Given the description of an element on the screen output the (x, y) to click on. 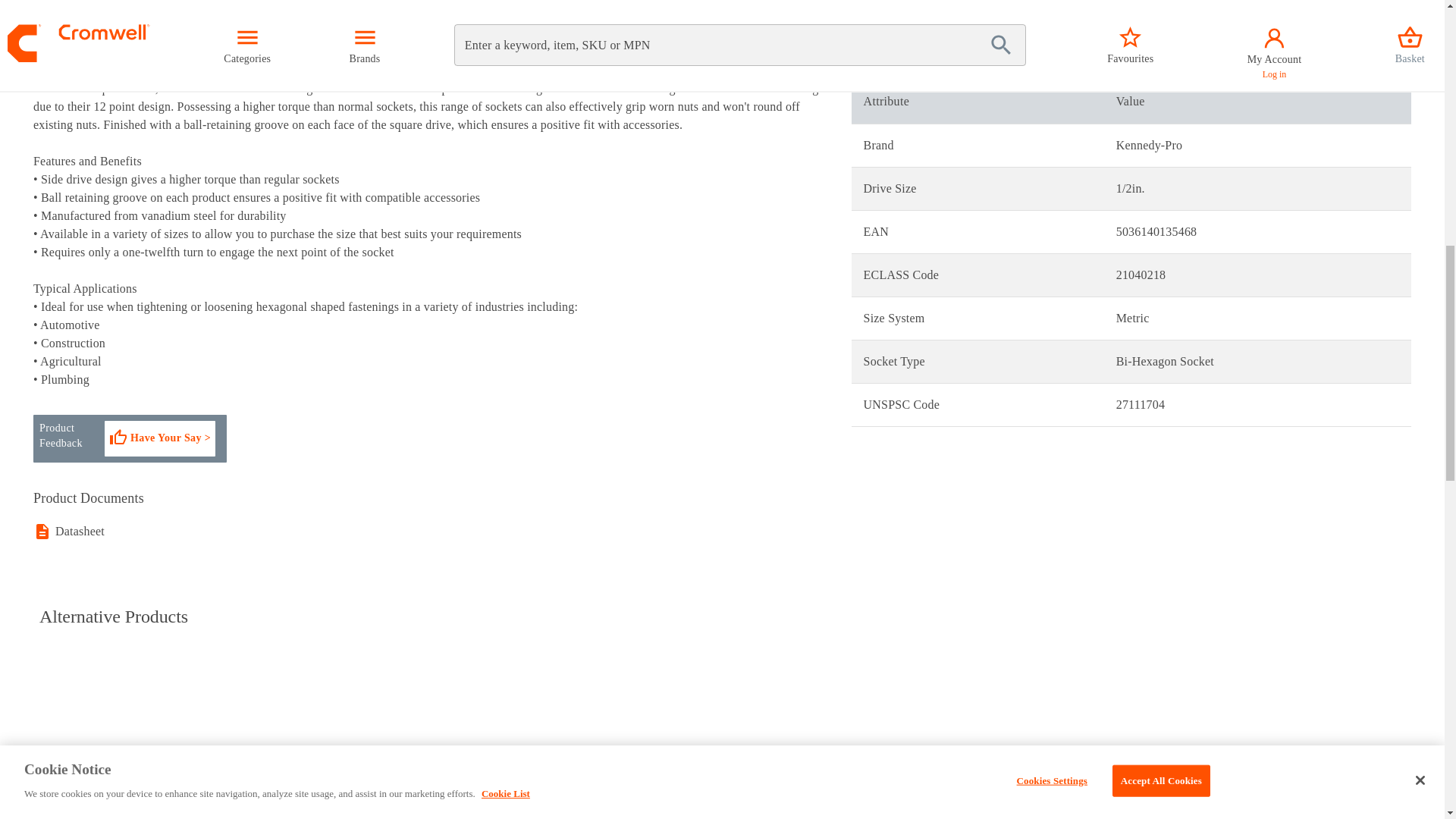
Yamoto (288, 759)
Datasheet (82, 523)
Kennedy-Pro (73, 759)
